Given the description of an element on the screen output the (x, y) to click on. 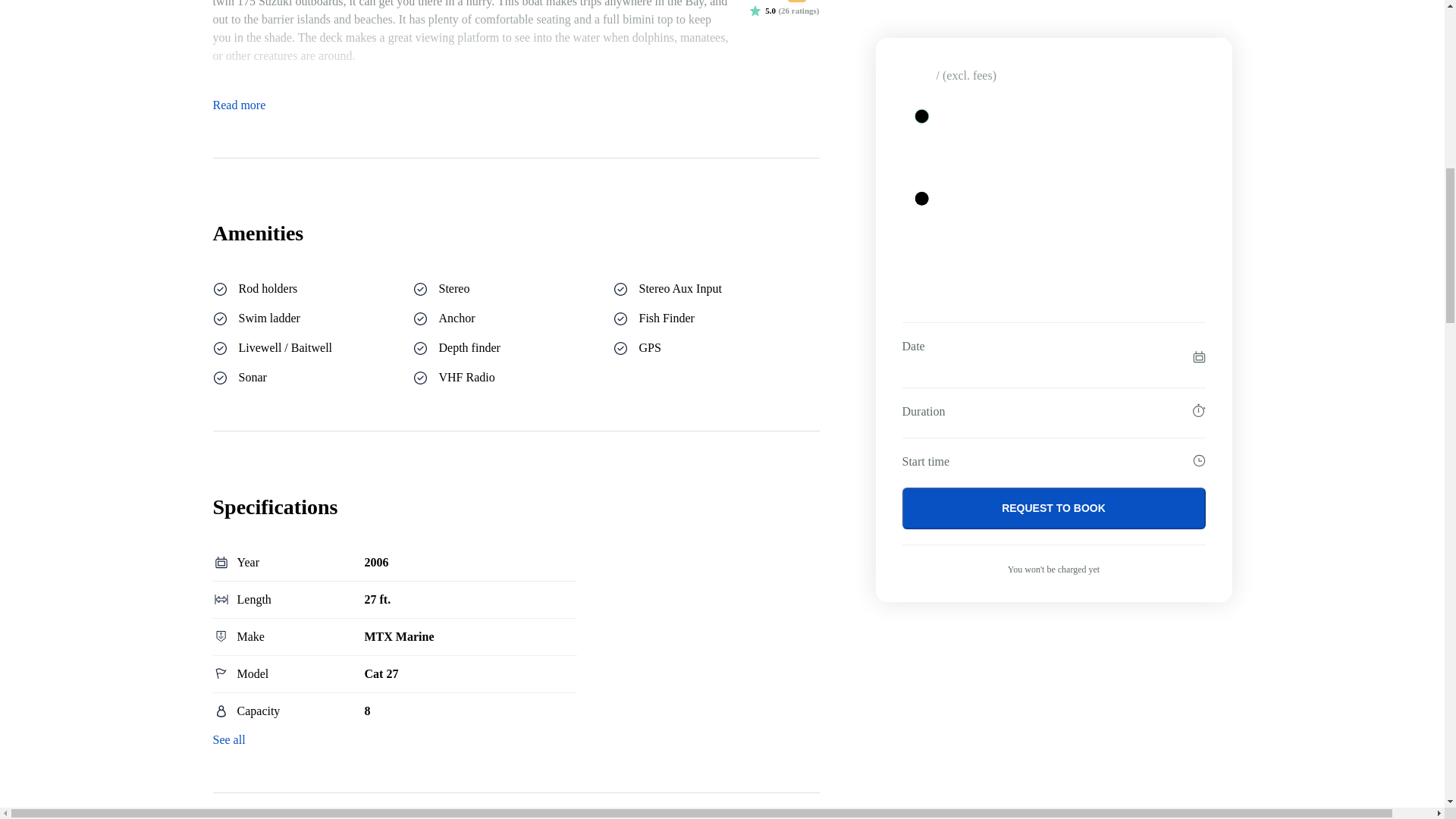
REQUEST TO BOOK (1053, 120)
